Given the description of an element on the screen output the (x, y) to click on. 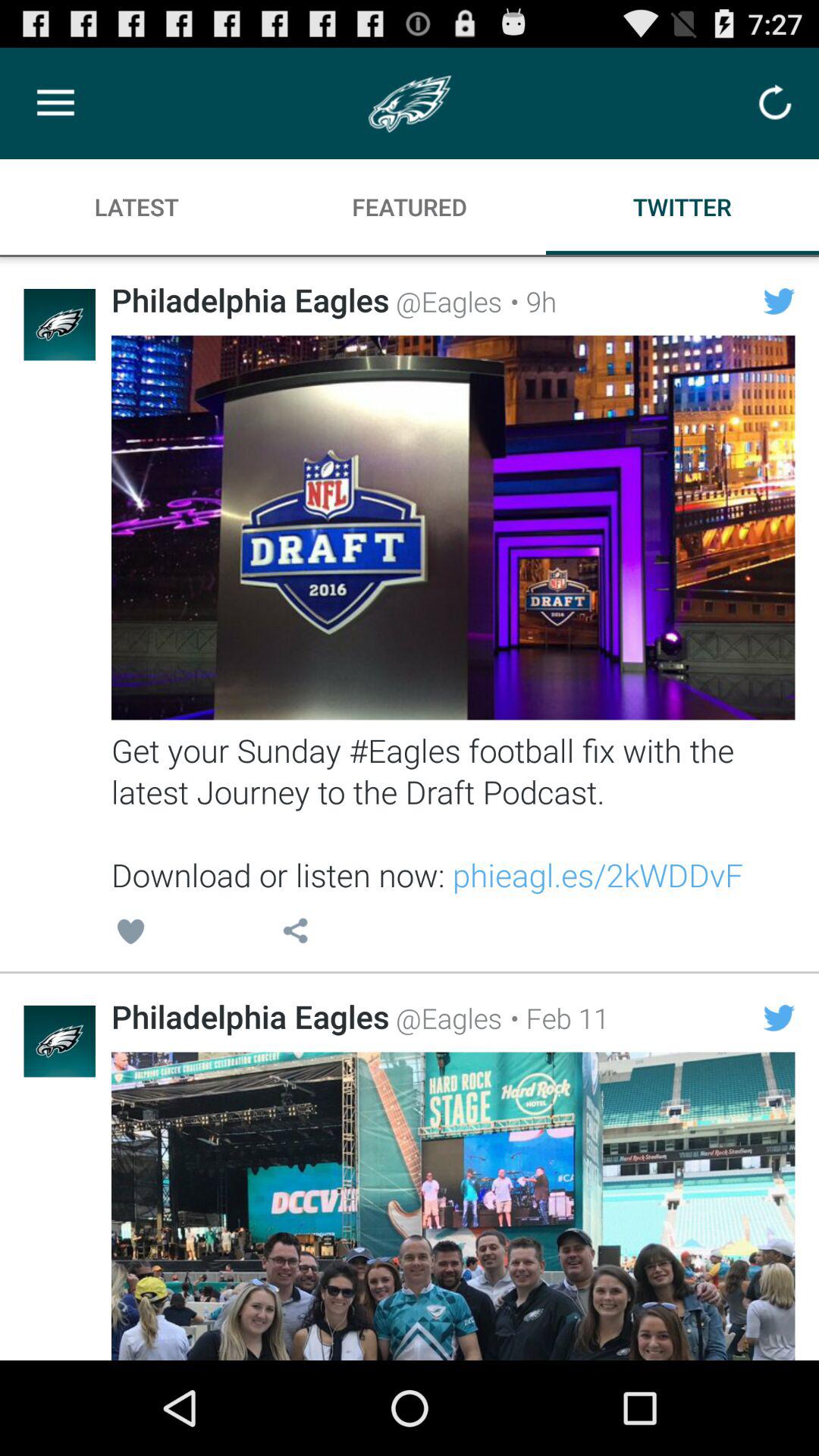
open item above latest item (55, 103)
